Given the description of an element on the screen output the (x, y) to click on. 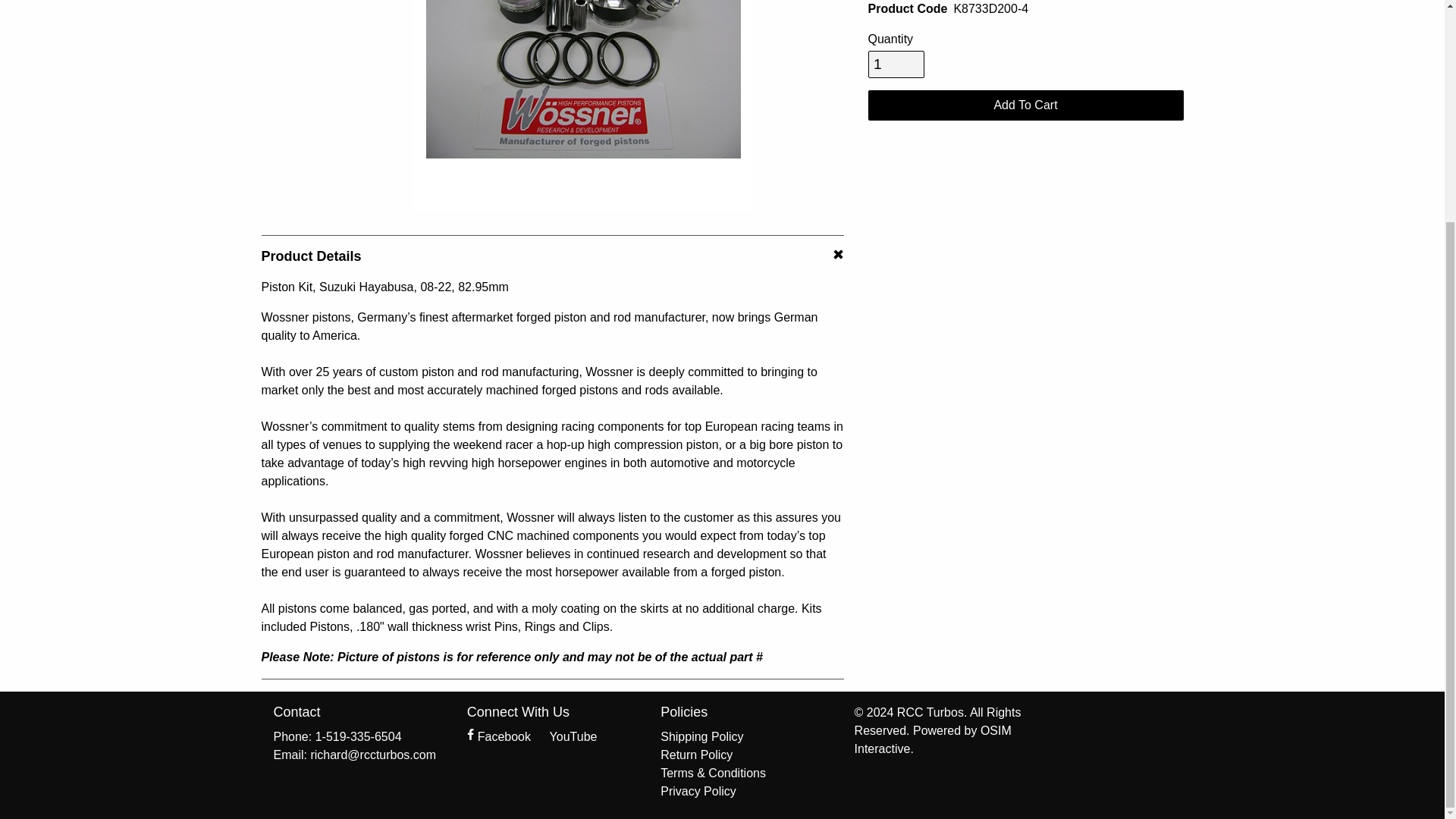
Shipping Policy (701, 736)
OSIM Interactive (932, 739)
1 (895, 63)
Privacy Policy (698, 790)
Phone: 1-519-335-6504 (357, 737)
Find us on YouTube (565, 736)
Add To Cart (1024, 105)
Return Policy (696, 754)
Call Us (357, 737)
Find us on Facebook (500, 736)
YouTube (565, 736)
Facebook (500, 736)
Email Us (357, 755)
